Given the description of an element on the screen output the (x, y) to click on. 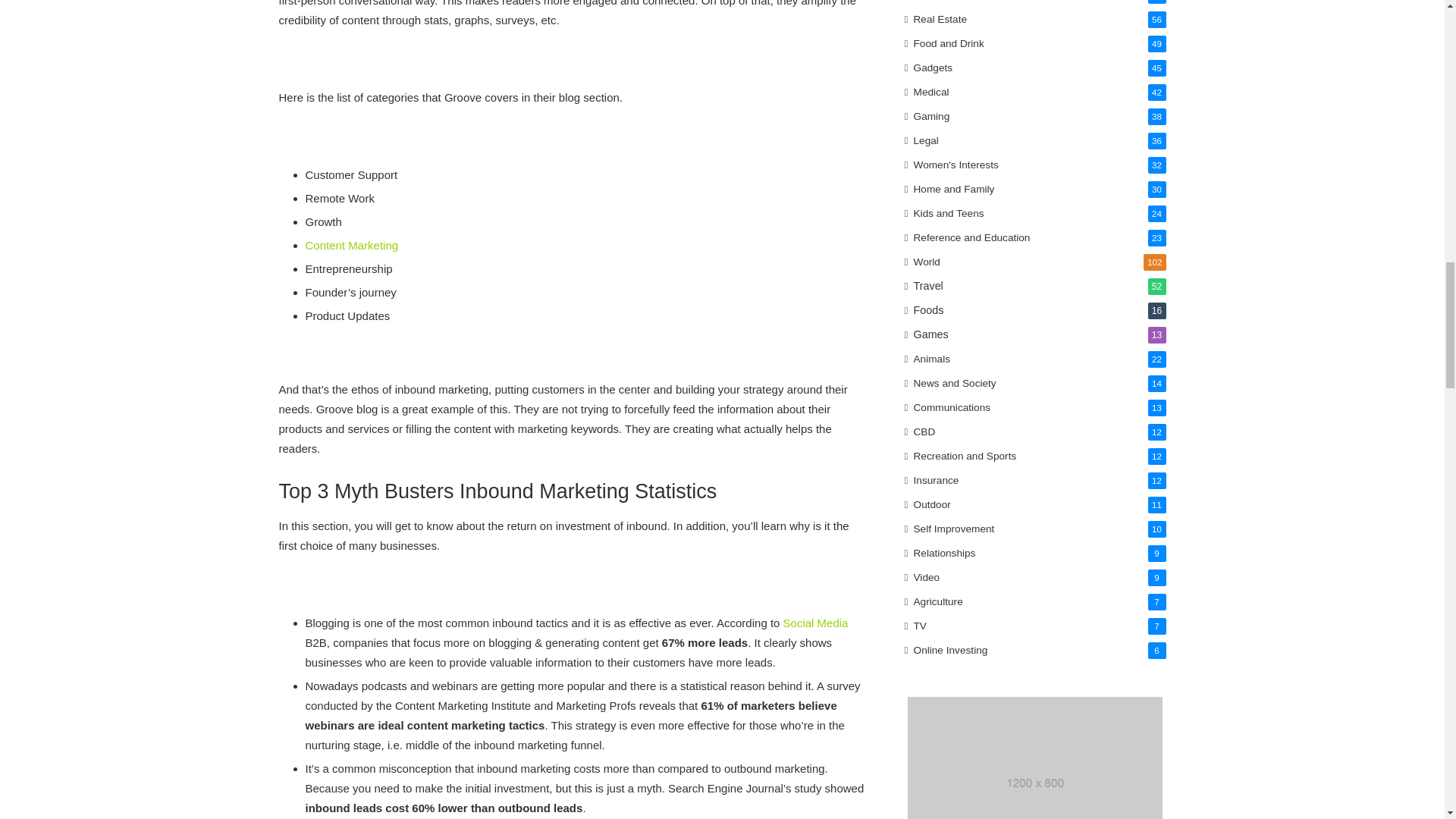
Social Media (815, 622)
Content Marketing (350, 245)
